Given the description of an element on the screen output the (x, y) to click on. 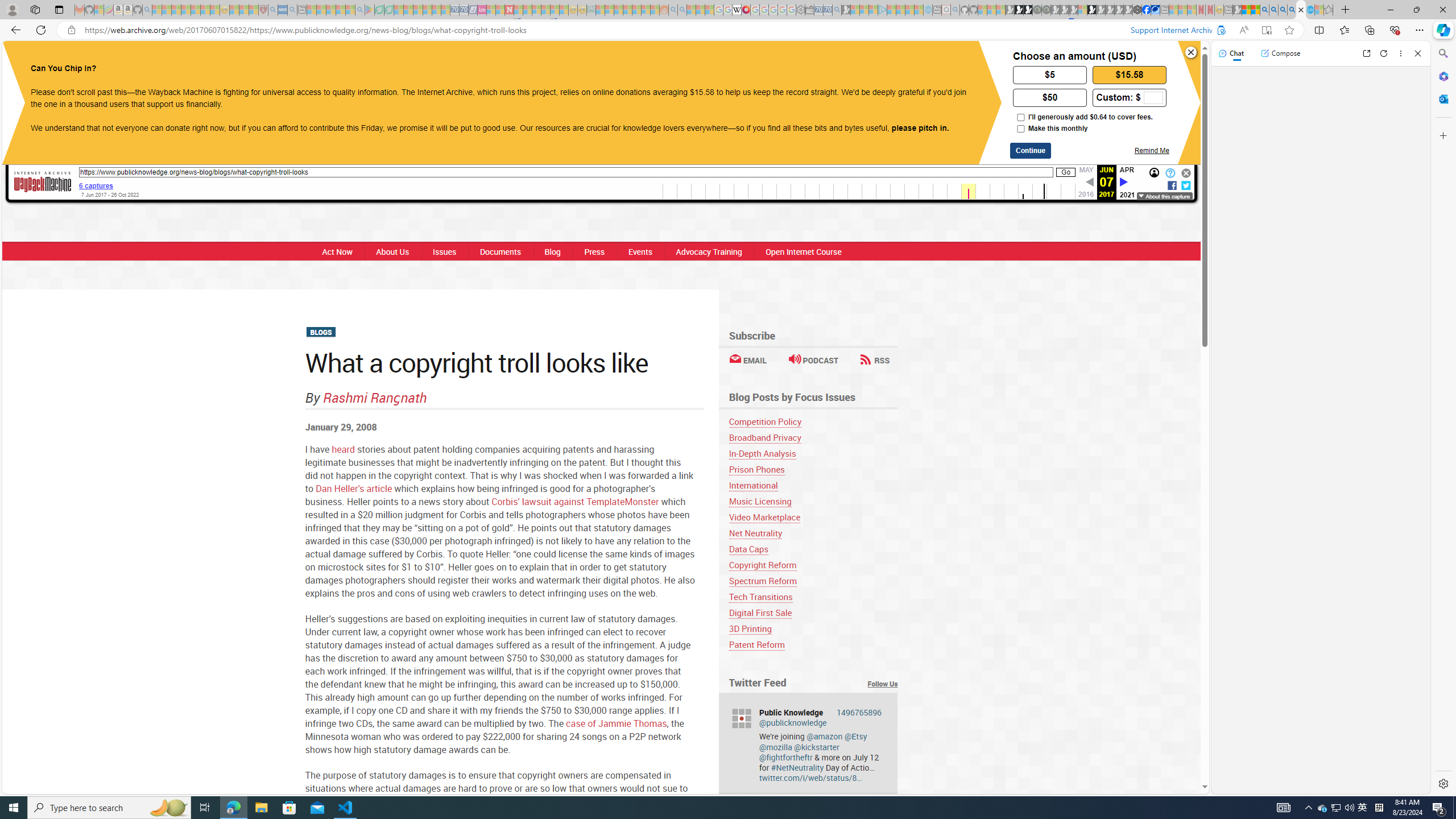
Blog (552, 251)
TWITTER (692, 60)
In-Depth Analysis (813, 453)
2021 (1127, 194)
EMAIL (747, 360)
Act Now (337, 251)
RSS (874, 360)
DONATE (829, 60)
